Given the description of an element on the screen output the (x, y) to click on. 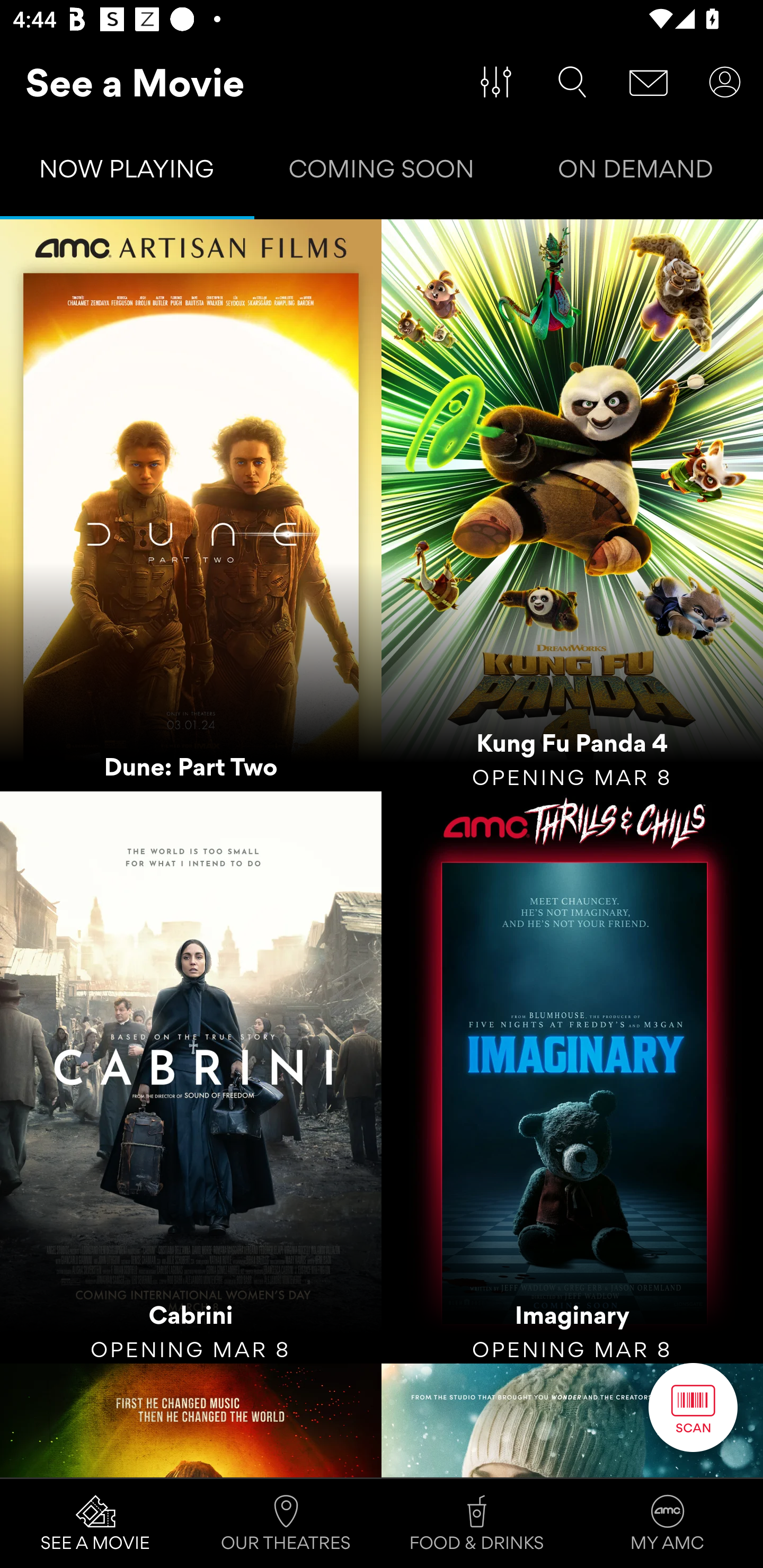
Filter Movies (495, 82)
Search (572, 82)
Message Center (648, 82)
User Account (724, 82)
NOW PLAYING
Tab 1 of 3 (127, 173)
COMING SOON
Tab 2 of 3 (381, 173)
ON DEMAND
Tab 3 of 3 (635, 173)
Dune: Part Two (190, 505)
Kung Fu Panda 4
OPENING MAR 8 (572, 505)
Cabrini
OPENING MAR 8 (190, 1077)
Imaginary
OPENING MAR 8 (572, 1077)
Scan Button (692, 1406)
SEE A MOVIE
Tab 1 of 4 (95, 1523)
OUR THEATRES
Tab 2 of 4 (285, 1523)
FOOD & DRINKS
Tab 3 of 4 (476, 1523)
MY AMC
Tab 4 of 4 (667, 1523)
